Given the description of an element on the screen output the (x, y) to click on. 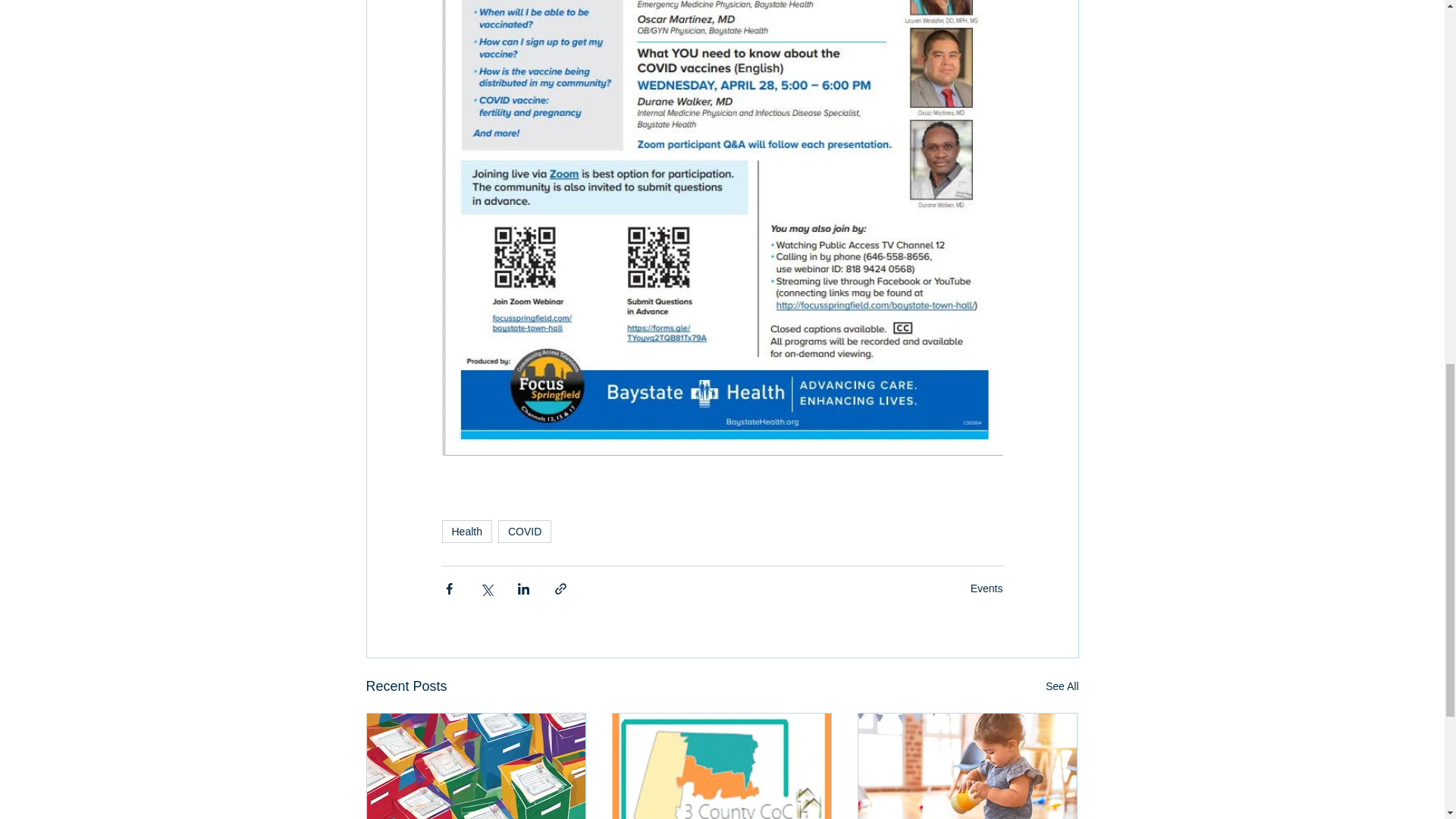
COVID (524, 531)
Health (466, 531)
Events (987, 588)
See All (1061, 686)
